Given the description of an element on the screen output the (x, y) to click on. 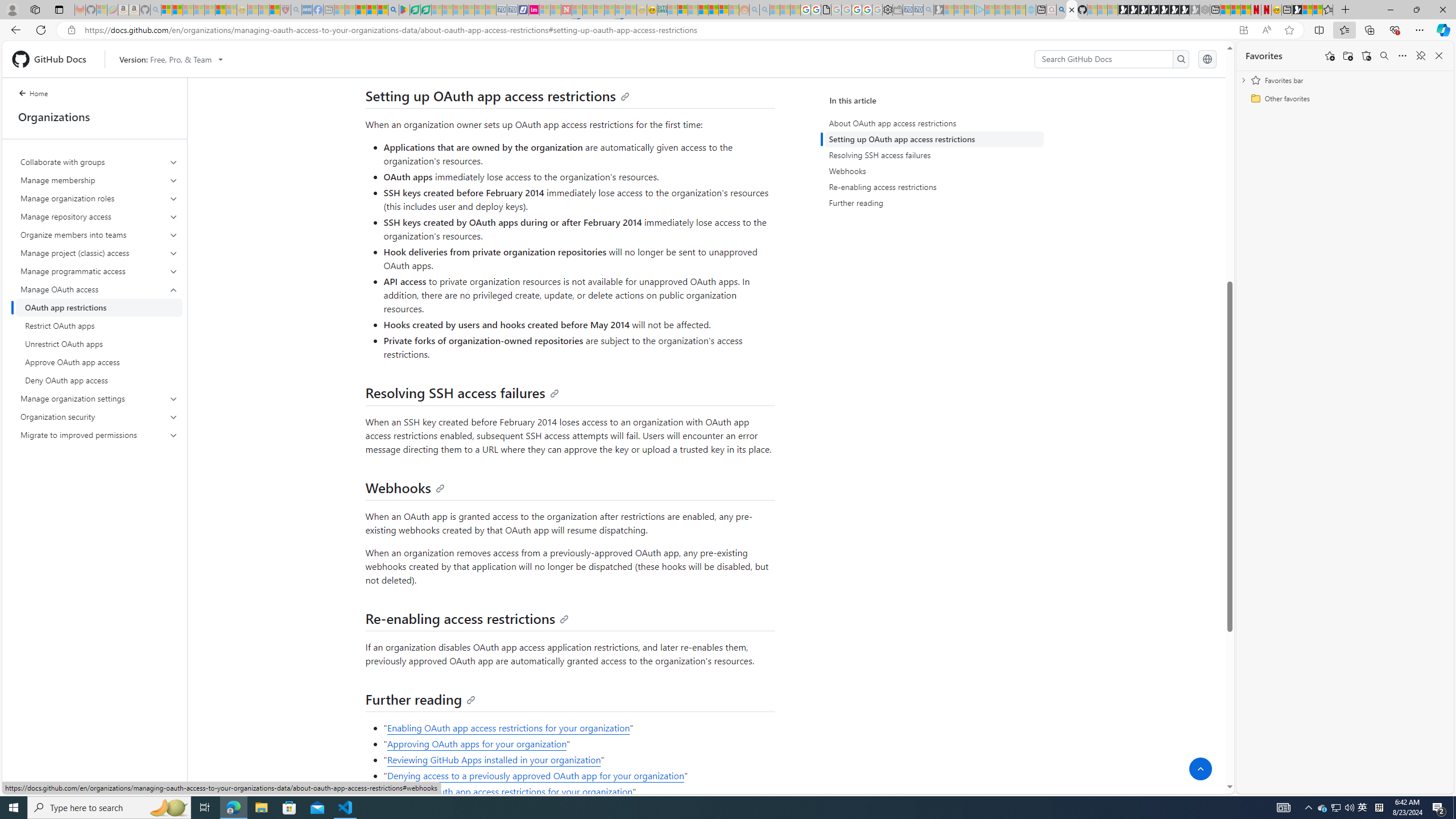
Local - MSN (274, 9)
Organization security (99, 416)
Add folder (1347, 55)
"Approving OAuth apps for your organization" (578, 744)
Organize members into teams (99, 235)
About OAuth app access restrictions (933, 123)
